Given the description of an element on the screen output the (x, y) to click on. 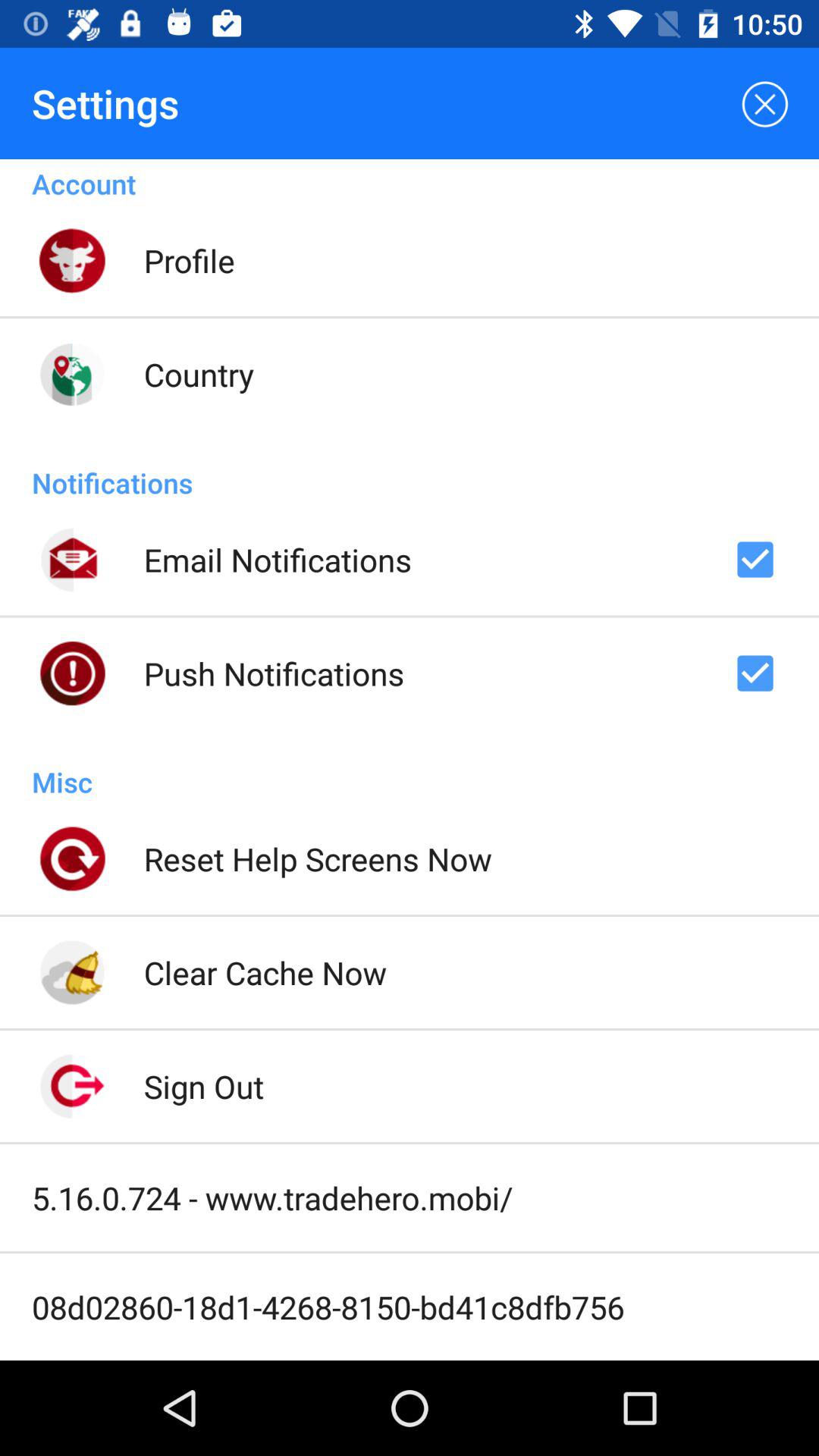
choose 08d02860 18d1 4268 icon (327, 1306)
